Given the description of an element on the screen output the (x, y) to click on. 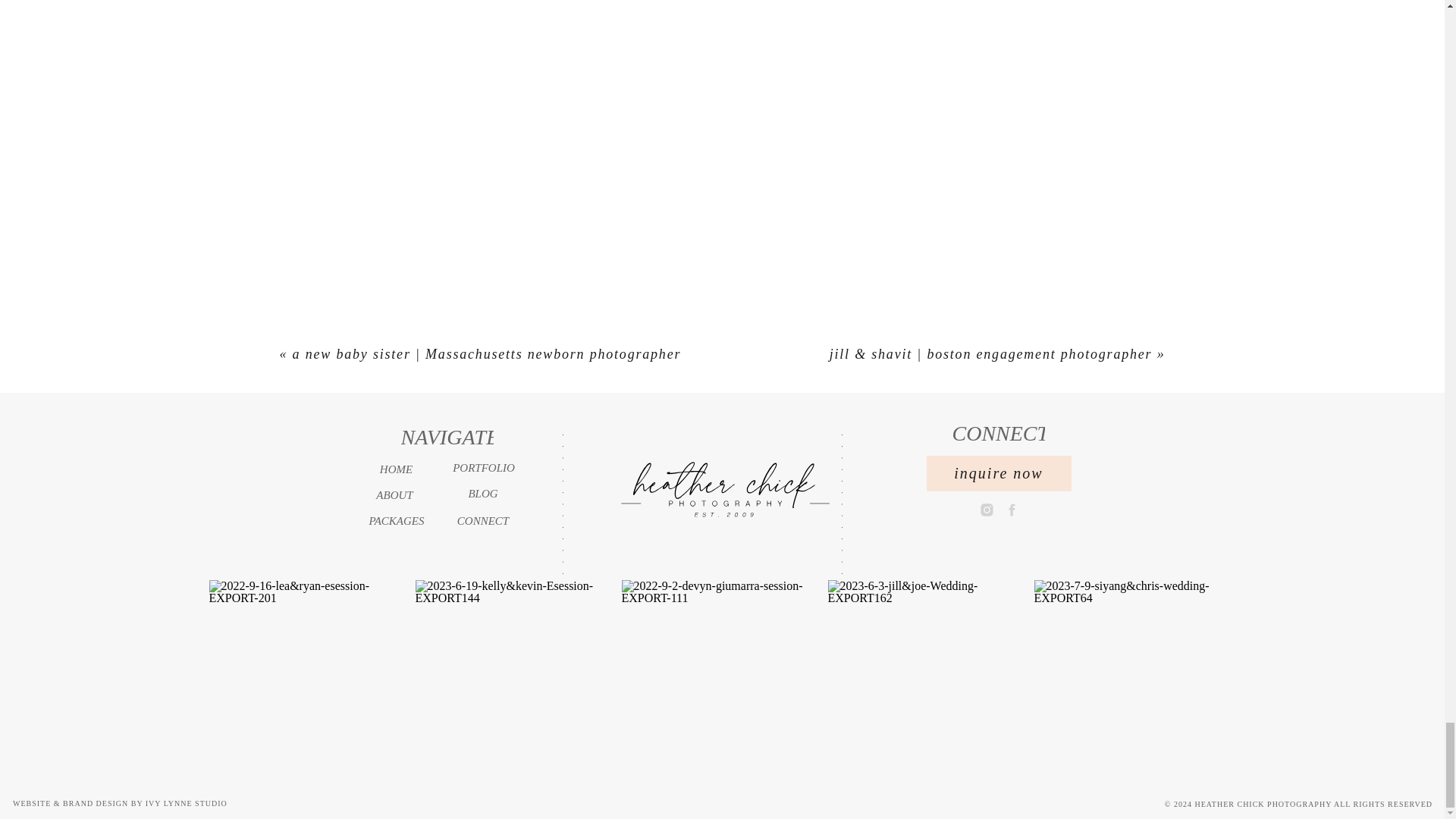
HOME (395, 468)
PORTFOLIO (483, 466)
CONNECT (482, 520)
BLOG (482, 493)
inquire now (998, 465)
ABOUT (394, 494)
PACKAGES (395, 520)
